Given the description of an element on the screen output the (x, y) to click on. 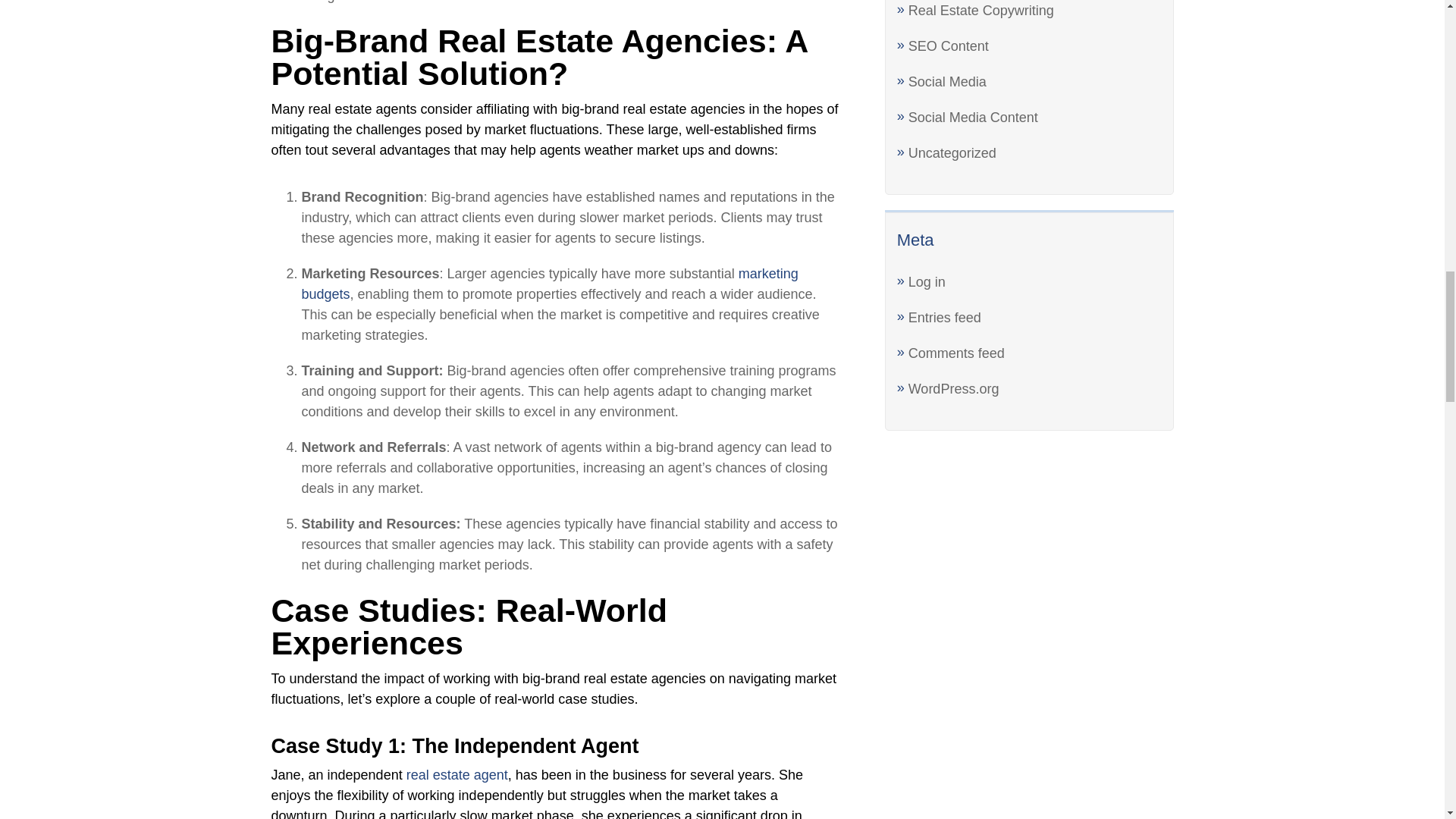
marketing budgets (549, 284)
real estate agent (457, 774)
